Given the description of an element on the screen output the (x, y) to click on. 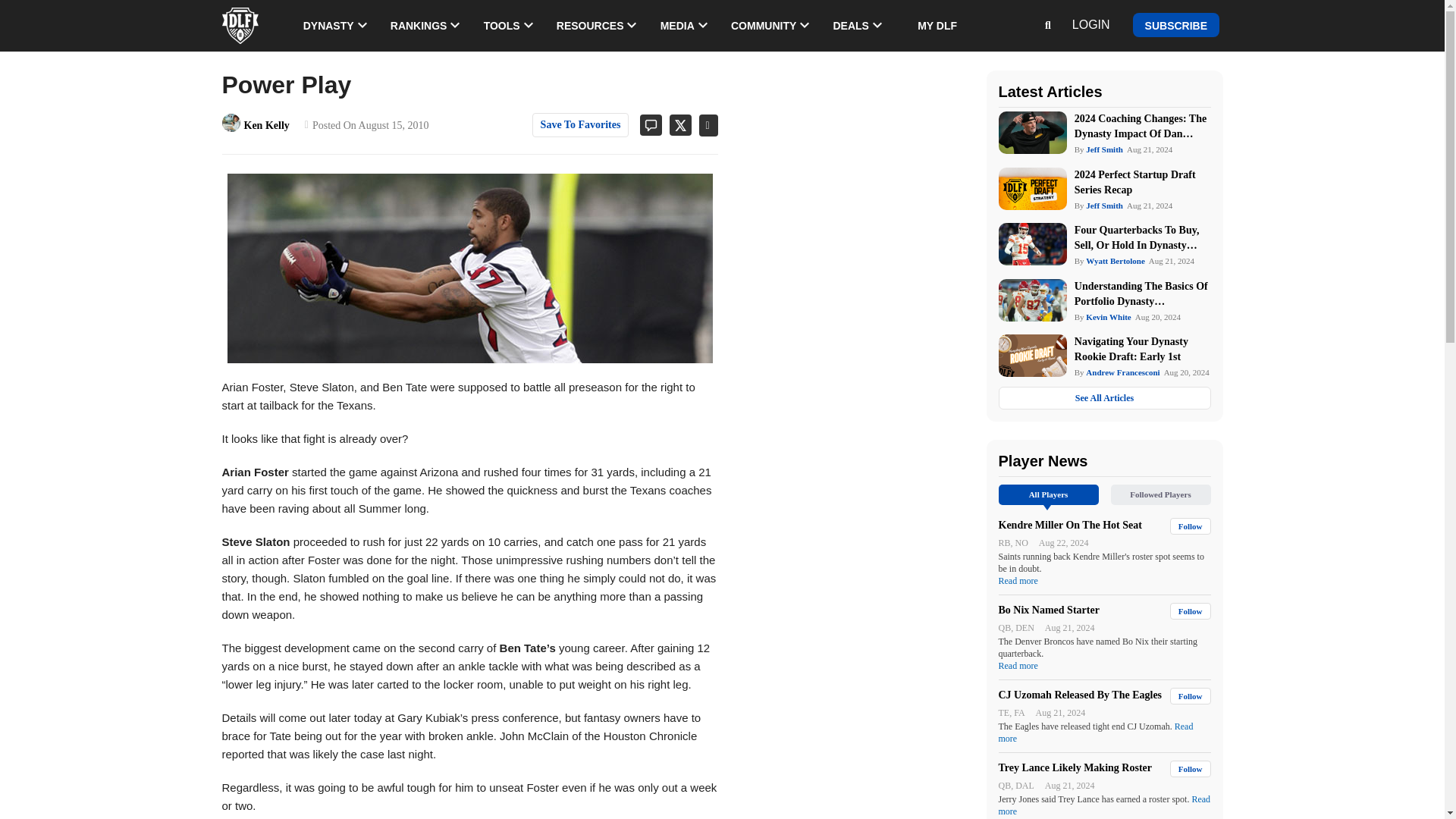
Share on Facebook (704, 125)
Foster2 (470, 268)
Discuss in Comments (645, 124)
Ken Kelly (230, 122)
2024 perfect startup draft series recap 4 (1031, 188)
